Given the description of an element on the screen output the (x, y) to click on. 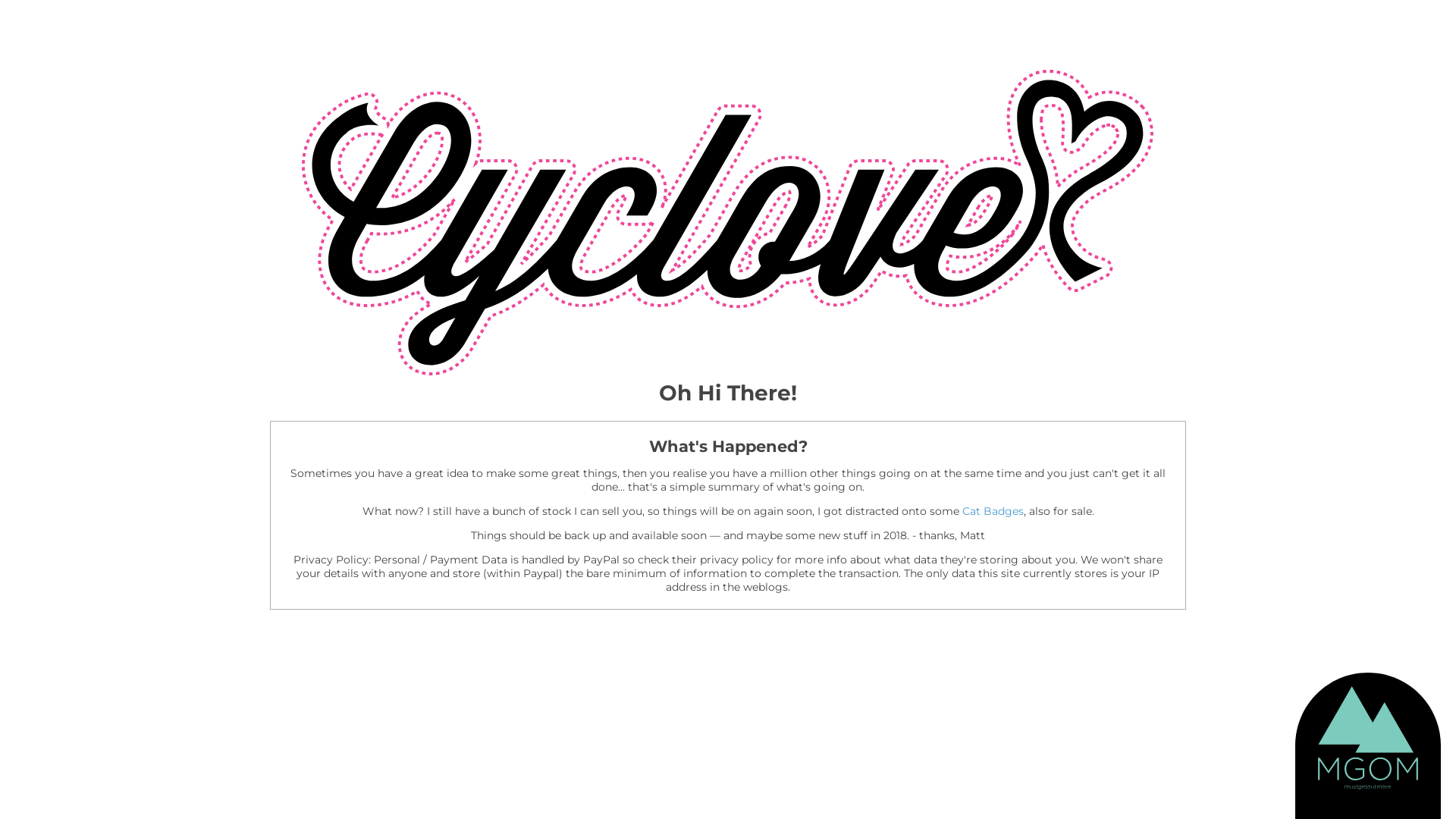
Cat Badges Element type: text (991, 510)
